Given the description of an element on the screen output the (x, y) to click on. 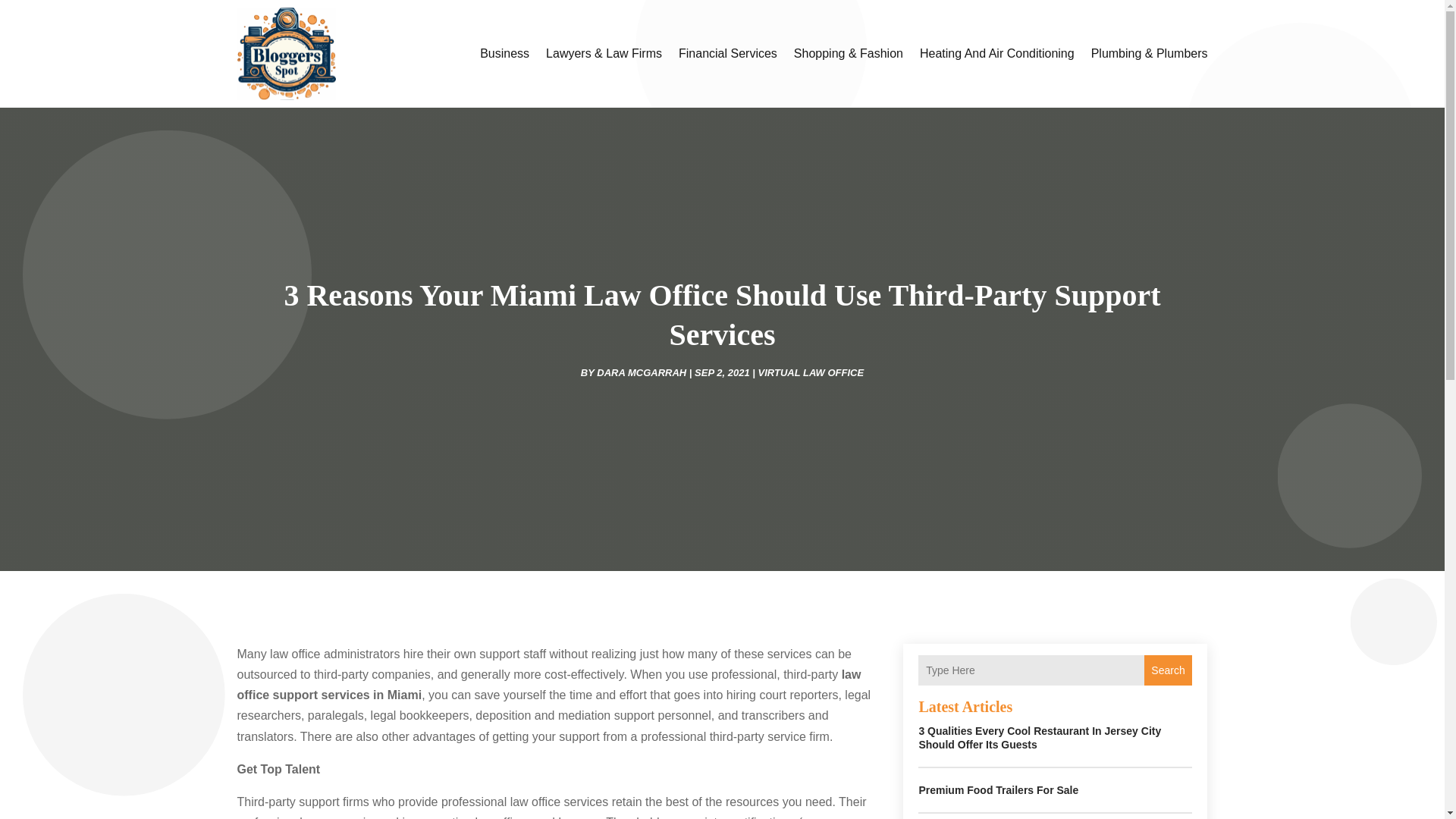
Posts by Dara Mcgarrah (640, 372)
VIRTUAL LAW OFFICE (811, 372)
Financial Services (727, 53)
Premium Food Trailers For Sale (998, 789)
Business (504, 53)
DARA MCGARRAH (640, 372)
Heating And Air Conditioning (997, 53)
Search (1168, 670)
